Given the description of an element on the screen output the (x, y) to click on. 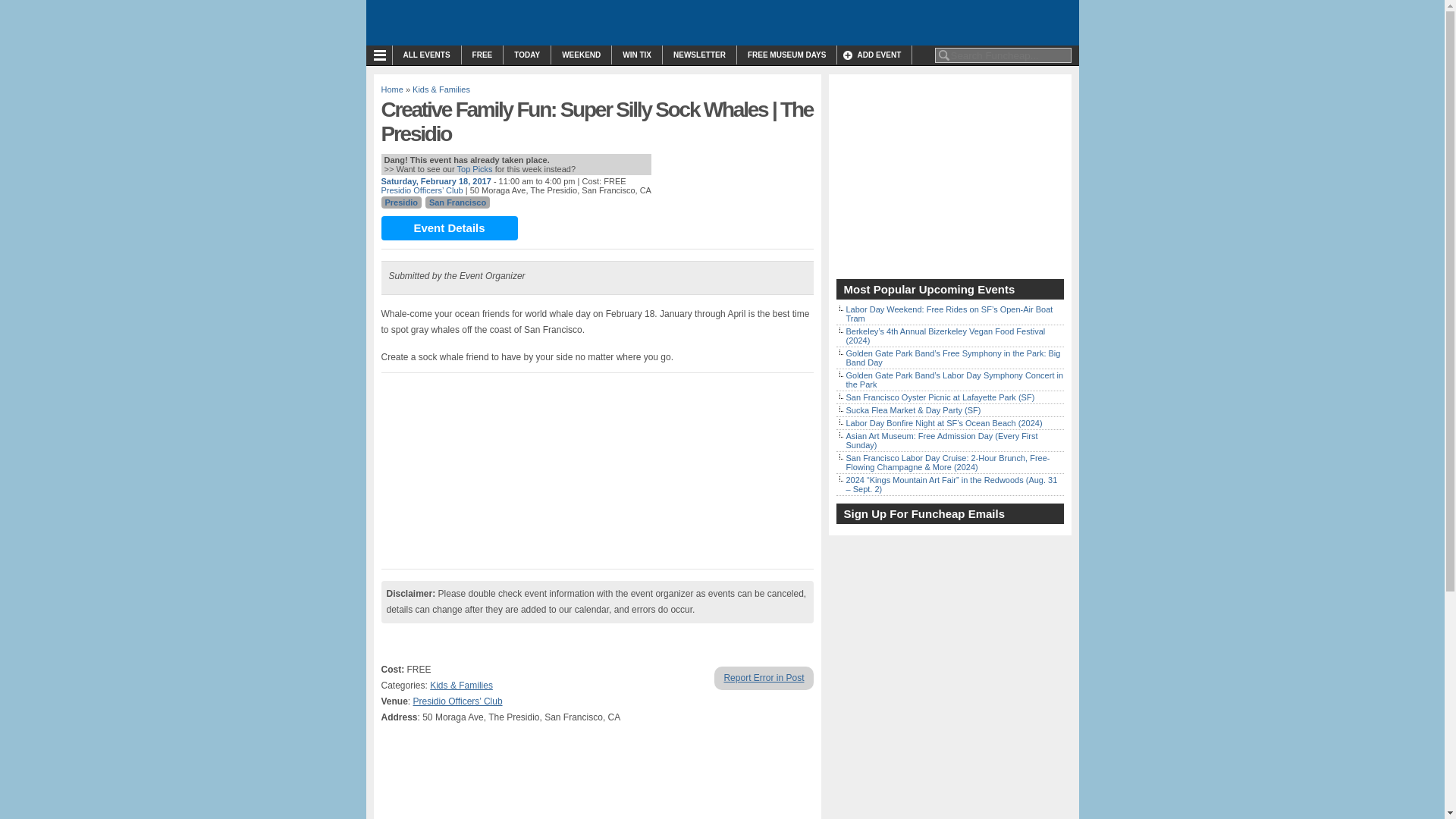
WEEKEND (581, 54)
FREE (482, 54)
NEWSLETTER (699, 54)
FREE MUSEUM DAYS (786, 54)
ADD EVENT (874, 54)
ALL EVENTS (427, 54)
TODAY (526, 54)
Home (391, 89)
Sub-Menu Toggle (381, 55)
MENU (381, 55)
